Given the description of an element on the screen output the (x, y) to click on. 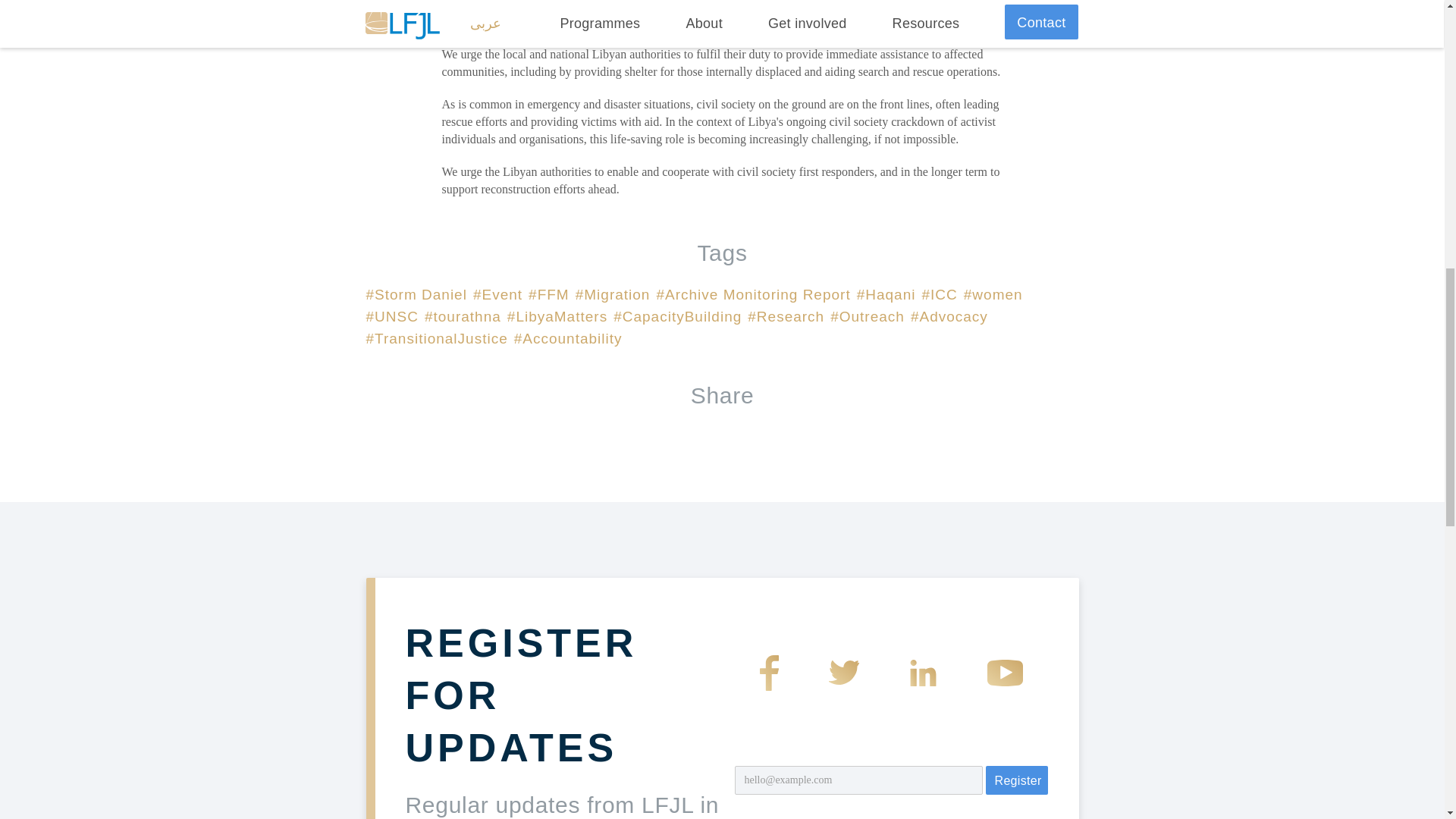
Register (1016, 779)
